Given the description of an element on the screen output the (x, y) to click on. 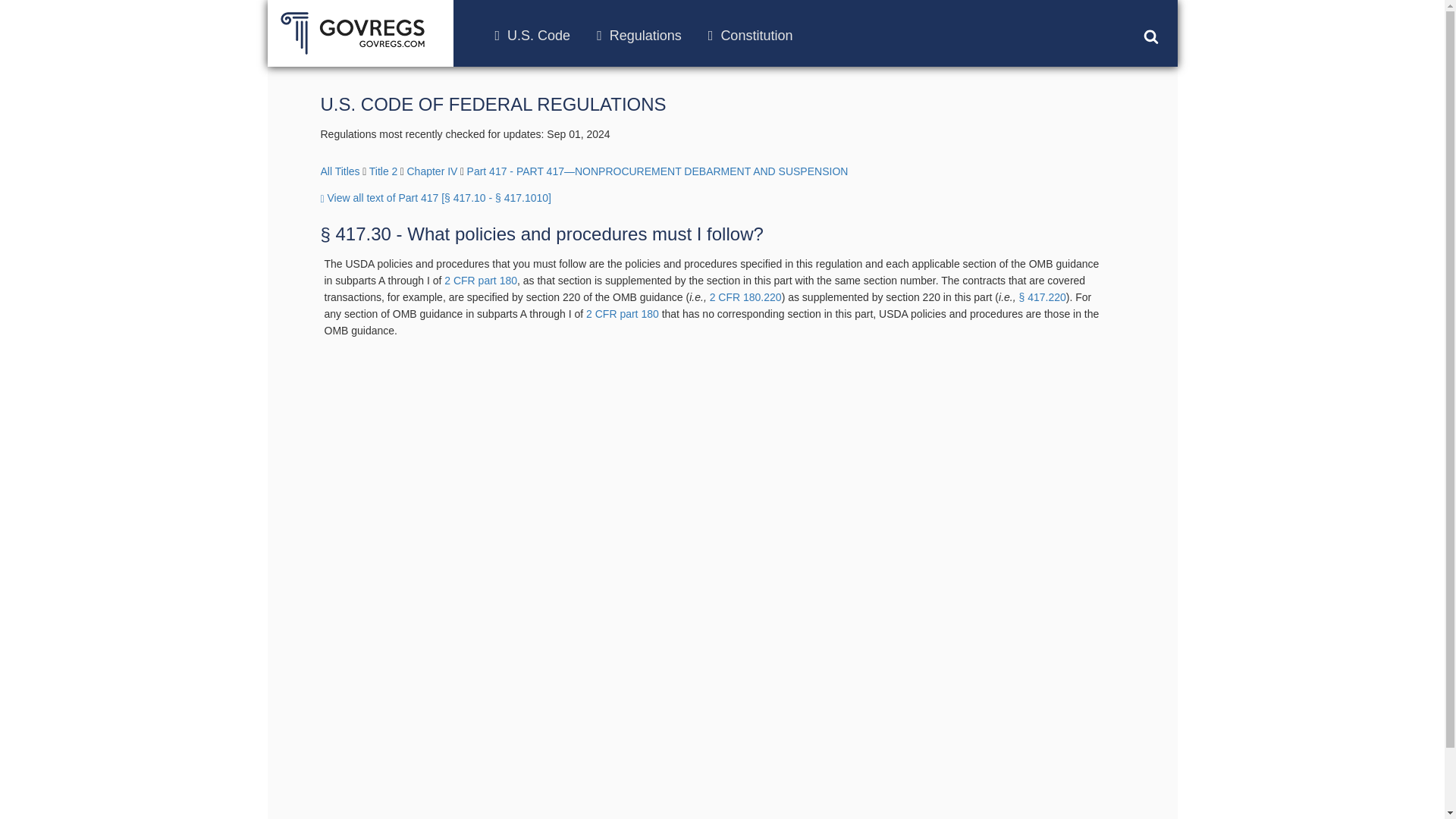
2 CFR 180.220 (745, 297)
U.S. Code (532, 35)
Constitution (750, 35)
2 CFR part 180 (480, 280)
All Titles (339, 171)
Chapter IV (431, 171)
Regulations (638, 35)
2 CFR part 180 (622, 313)
Title 2 (383, 171)
